Given the description of an element on the screen output the (x, y) to click on. 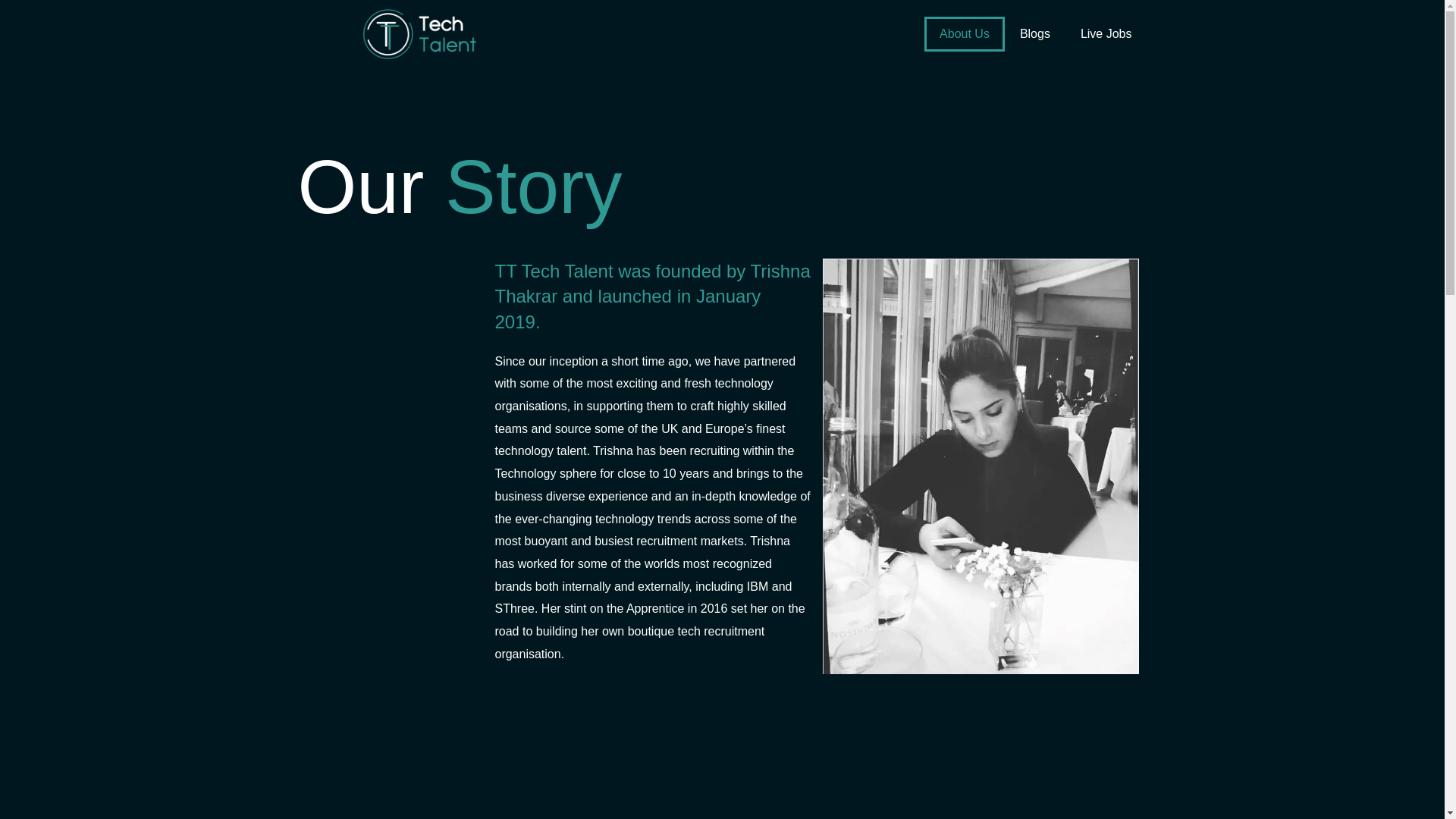
About Us (964, 33)
Live Jobs (1106, 33)
Blogs (1034, 33)
